Given the description of an element on the screen output the (x, y) to click on. 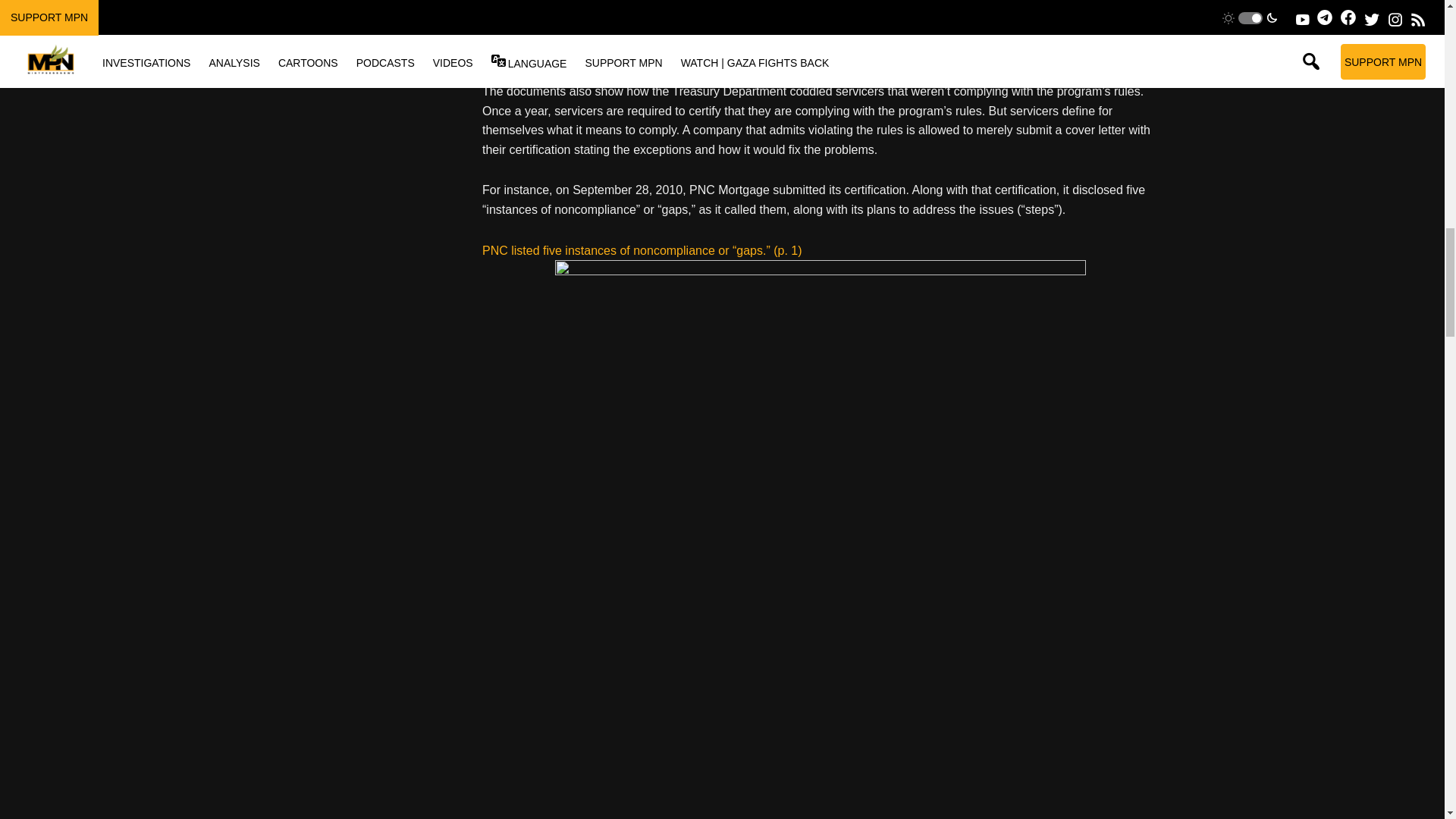
regularly complained they had been mistreated by servicers (797, 41)
denied two-thirds of them (709, 31)
